Given the description of an element on the screen output the (x, y) to click on. 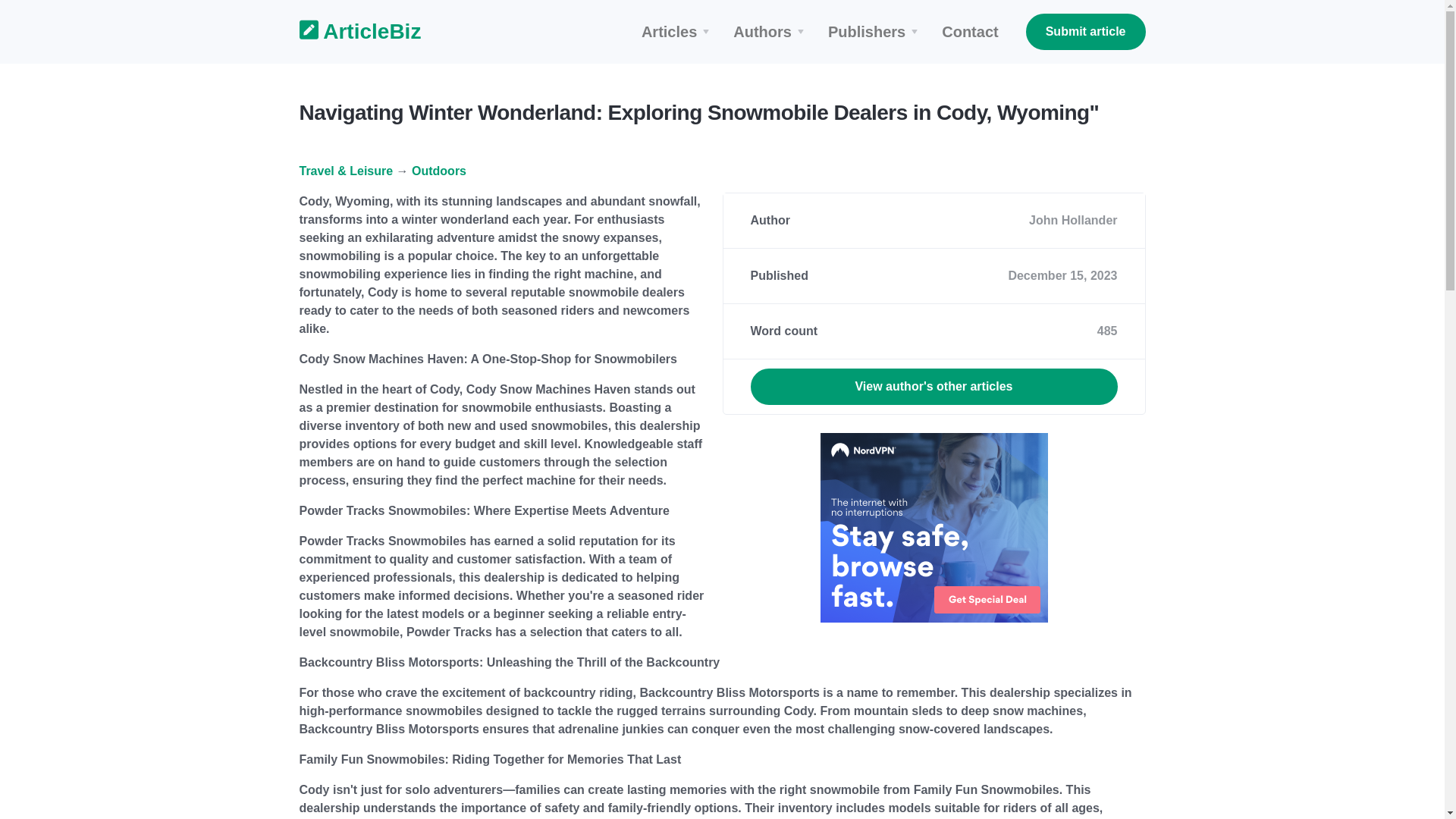
View author's other articles (934, 386)
Publishers (875, 31)
Authors (770, 31)
Contact (970, 31)
Articles (677, 31)
Submit article (1085, 31)
Outdoors (438, 170)
ArticleBiz (349, 31)
